Given the description of an element on the screen output the (x, y) to click on. 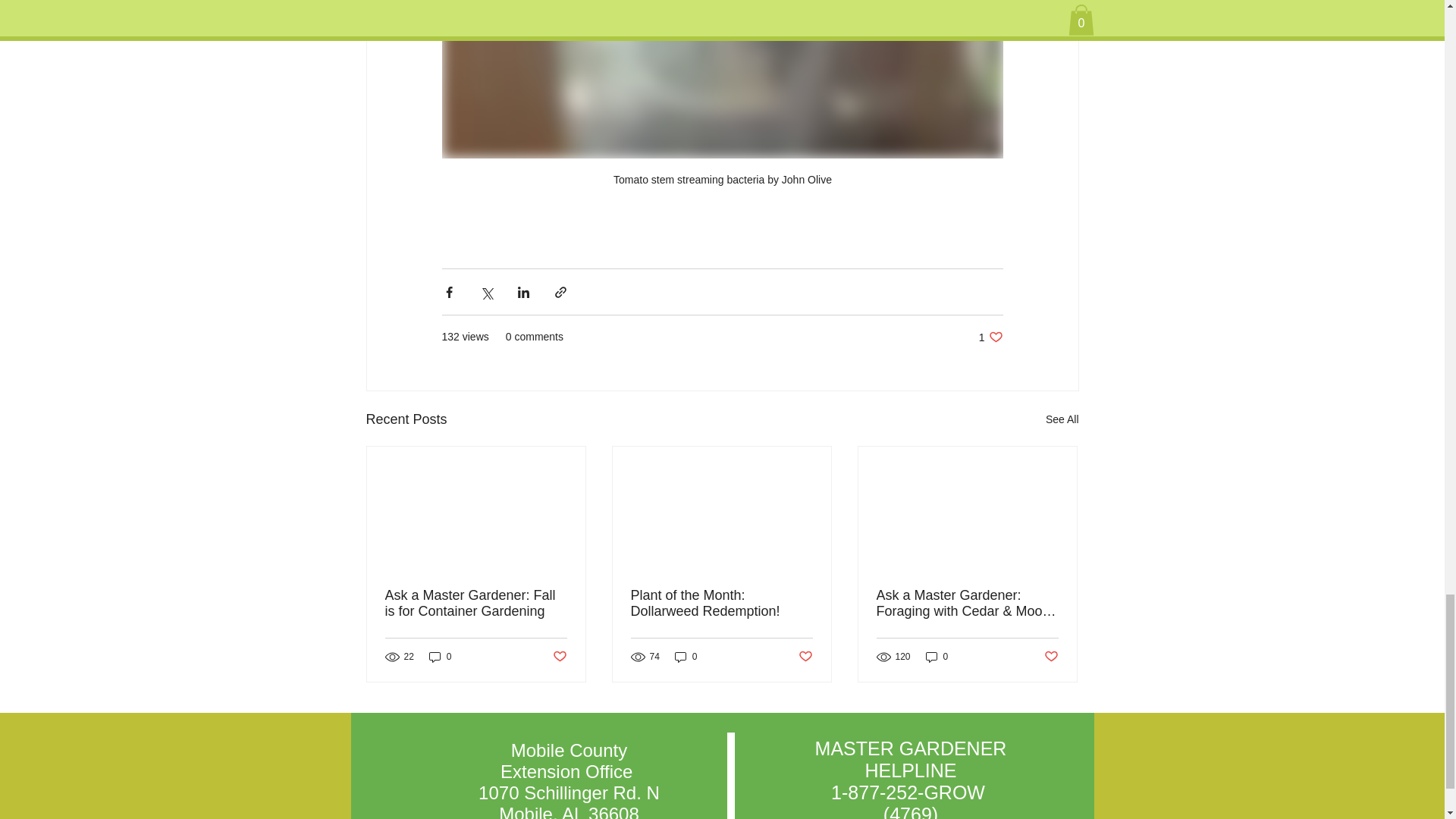
Post not marked as liked (990, 336)
0 (558, 657)
Plant of the Month: Dollarweed Redemption! (685, 657)
Ask a Master Gardener: Fall is for Container Gardening (721, 603)
0 (476, 603)
Post not marked as liked (937, 657)
See All (1050, 657)
Post not marked as liked (1061, 419)
0 (804, 657)
